Given the description of an element on the screen output the (x, y) to click on. 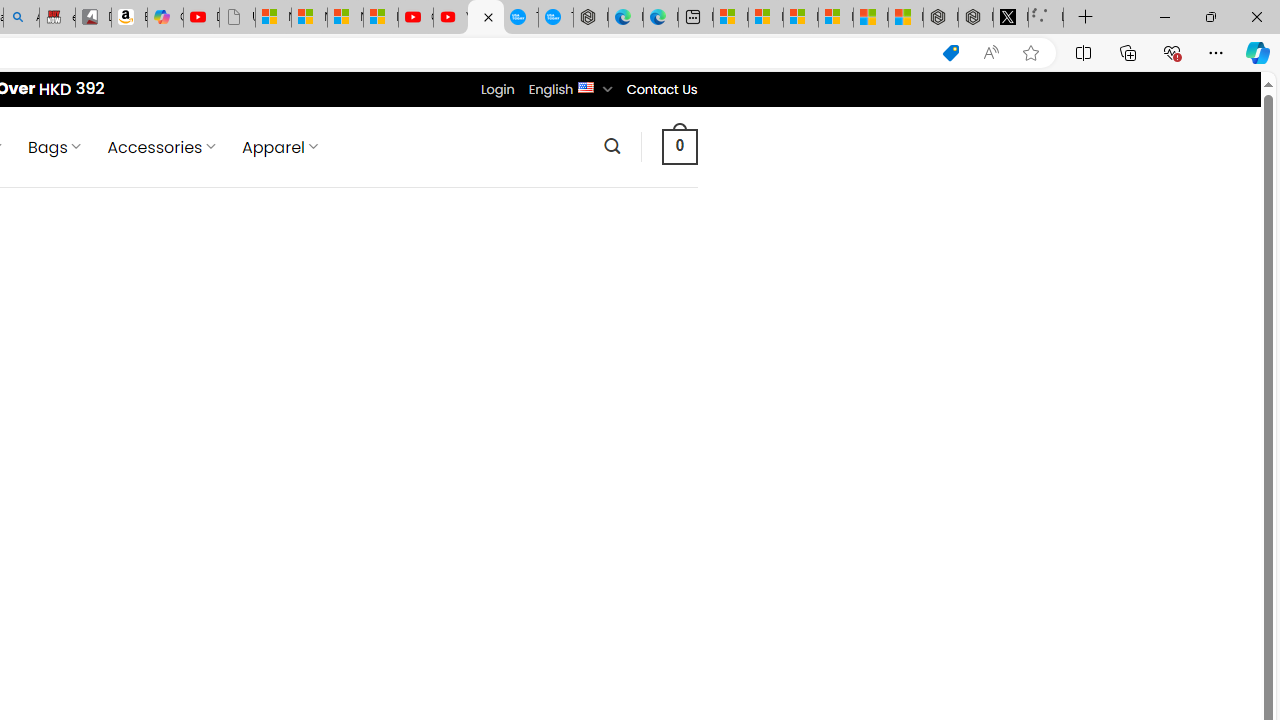
Nordace - Contact Us (485, 17)
Copilot (165, 17)
